Given the description of an element on the screen output the (x, y) to click on. 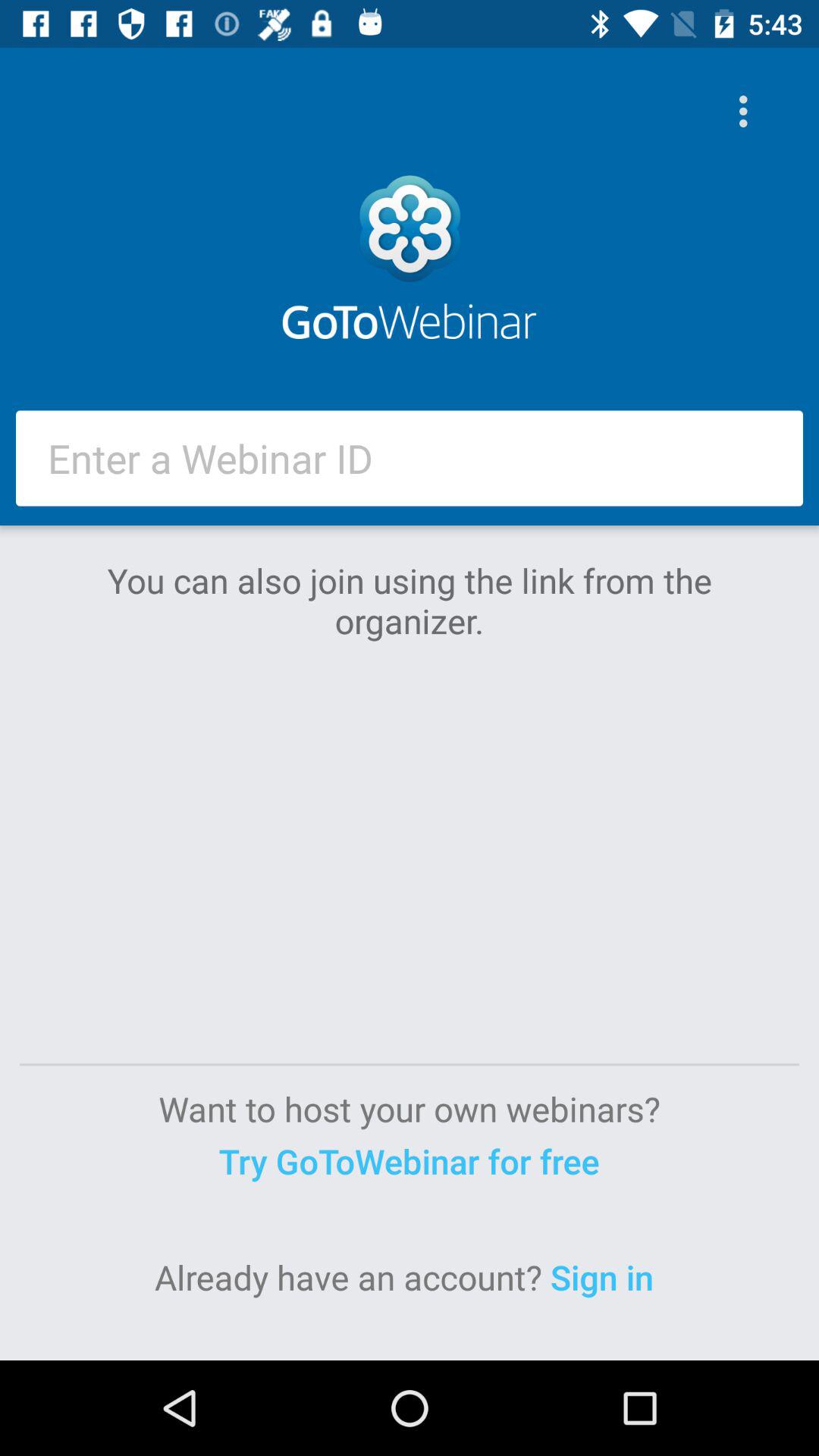
select item above you can also icon (409, 458)
